Given the description of an element on the screen output the (x, y) to click on. 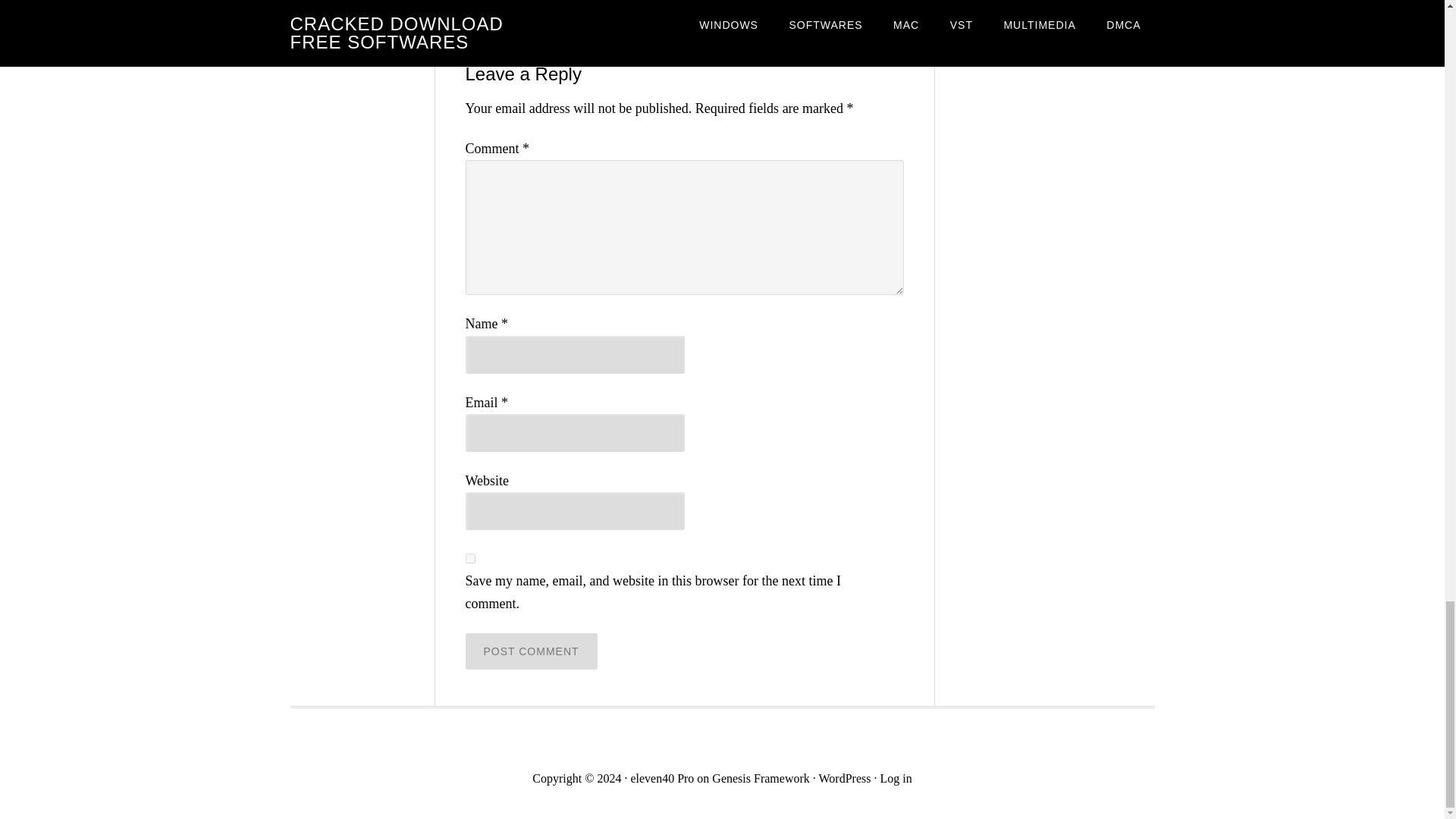
eleven40 Pro (662, 778)
Samsung Firmware (576, 22)
Genesis Framework (760, 778)
yes (470, 558)
WordPress (844, 778)
Post Comment (530, 651)
Post Comment (530, 651)
